Given the description of an element on the screen output the (x, y) to click on. 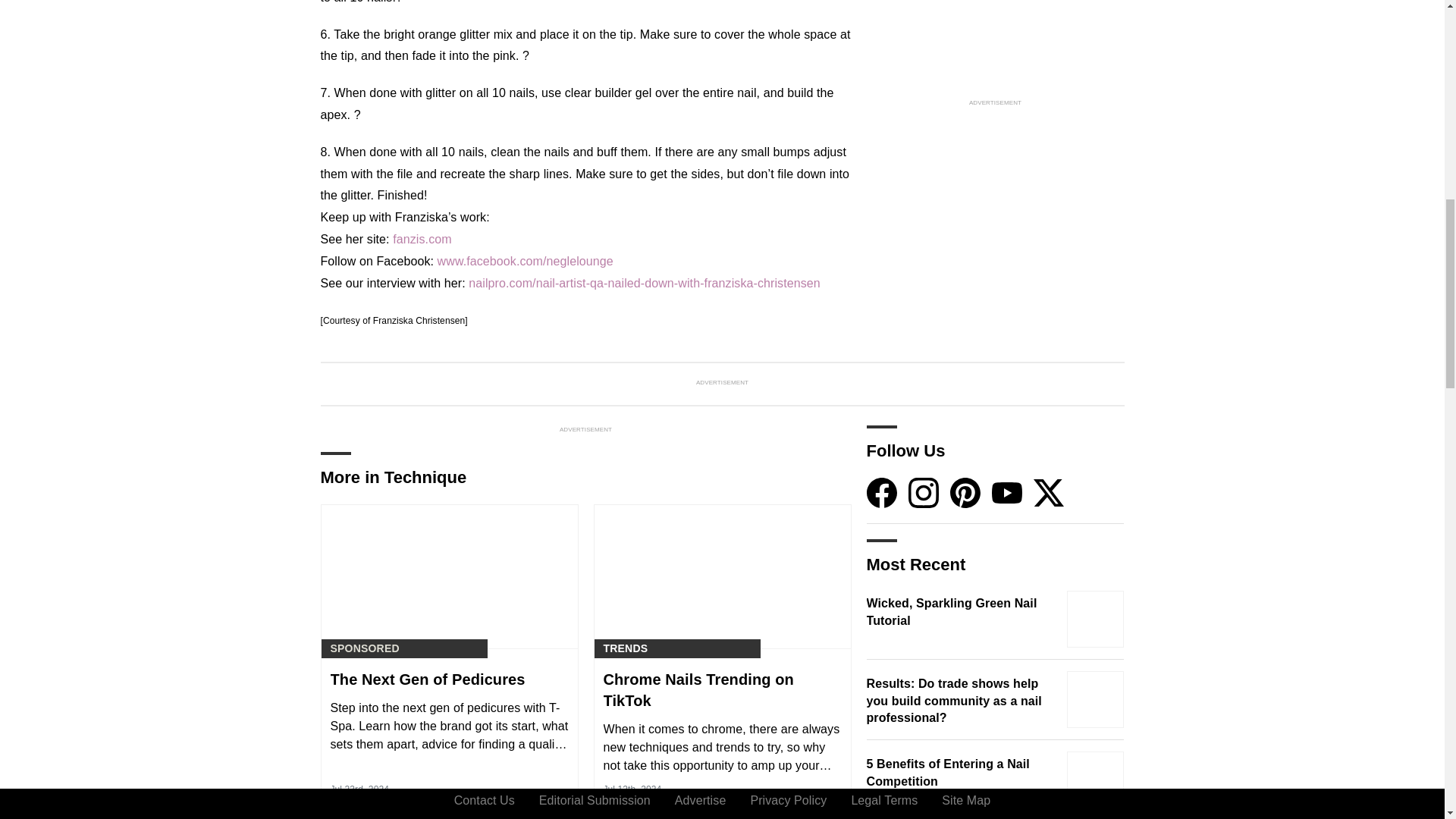
YouTube icon (1006, 492)
Twitter X icon (1047, 492)
Sponsored (364, 648)
Instagram icon (923, 492)
Facebook icon (881, 492)
Pinterest icon (964, 492)
